Given the description of an element on the screen output the (x, y) to click on. 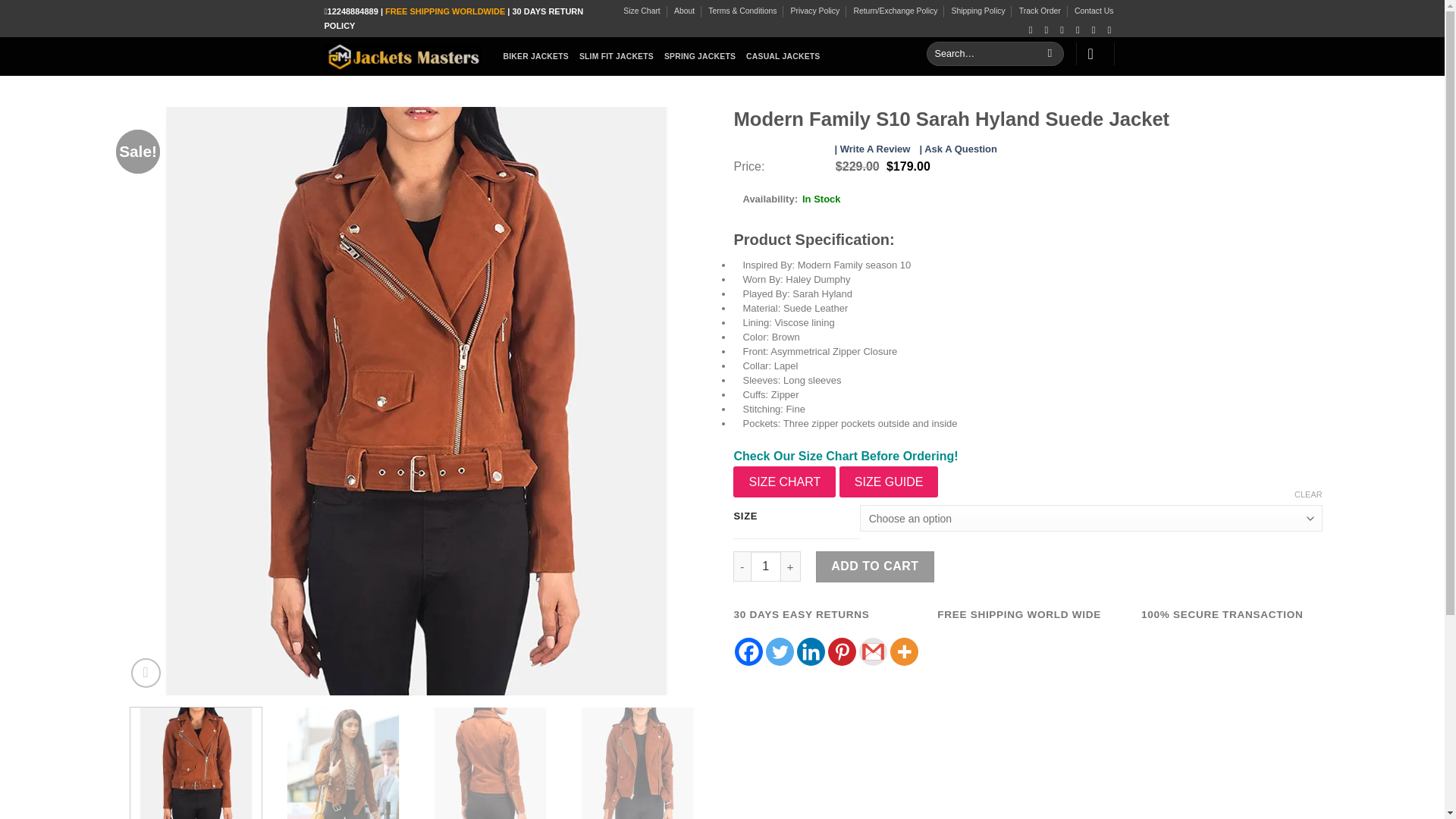
Contact Us (1093, 11)
SPRING JACKETS (699, 56)
About (684, 11)
BIKER JACKETS (536, 56)
Search (1050, 53)
SLIM FIT JACKETS (616, 56)
Shipping Policy (979, 11)
Size Chart (642, 11)
Track Order (1040, 11)
CASUAL JACKETS (782, 56)
12248884889 (352, 10)
Privacy Policy (815, 11)
Jackets Masters (402, 56)
